Given the description of an element on the screen output the (x, y) to click on. 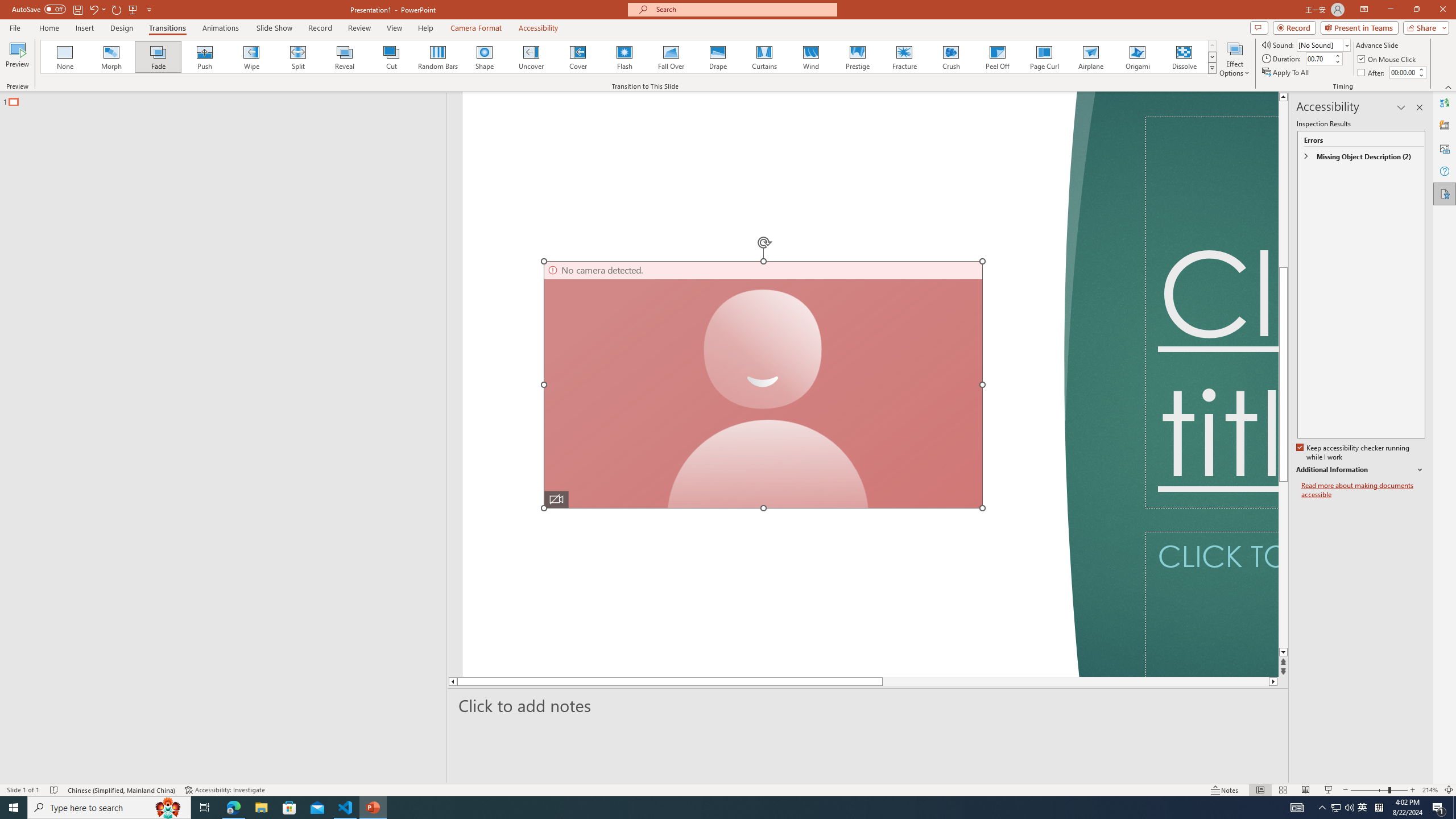
Outline (227, 99)
Fade (158, 56)
Crush (950, 56)
Curtains (764, 56)
None (65, 56)
Less (1420, 75)
Fracture (903, 56)
Keep accessibility checker running while I work (1353, 452)
